Given the description of an element on the screen output the (x, y) to click on. 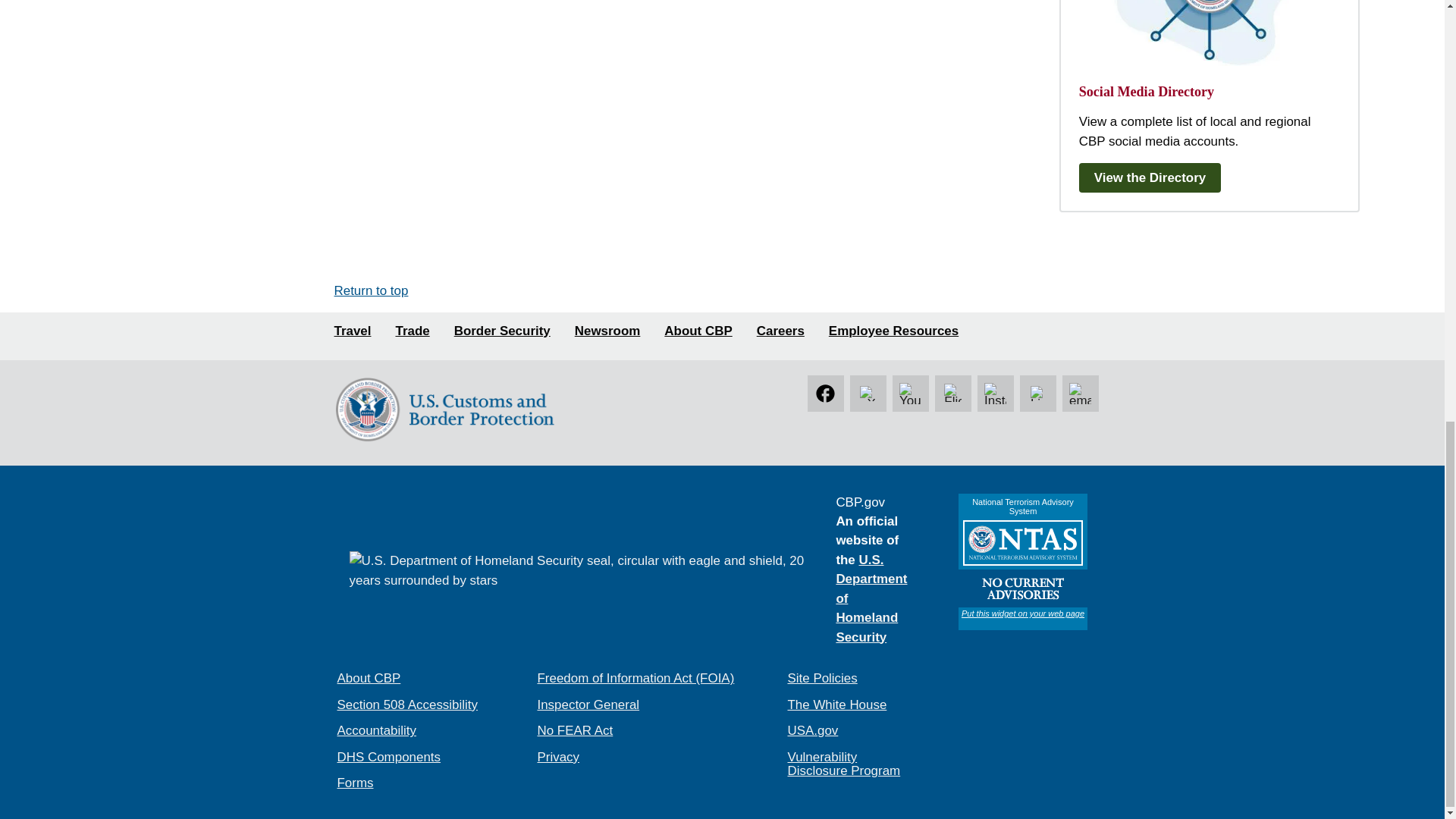
View the Directory (1152, 177)
National Terrorism Advisory System (1022, 561)
Travel (352, 331)
Border Security (502, 331)
Careers (781, 331)
Travel (352, 331)
Newsroom (607, 331)
Return to top (370, 290)
About (697, 331)
